Given the description of an element on the screen output the (x, y) to click on. 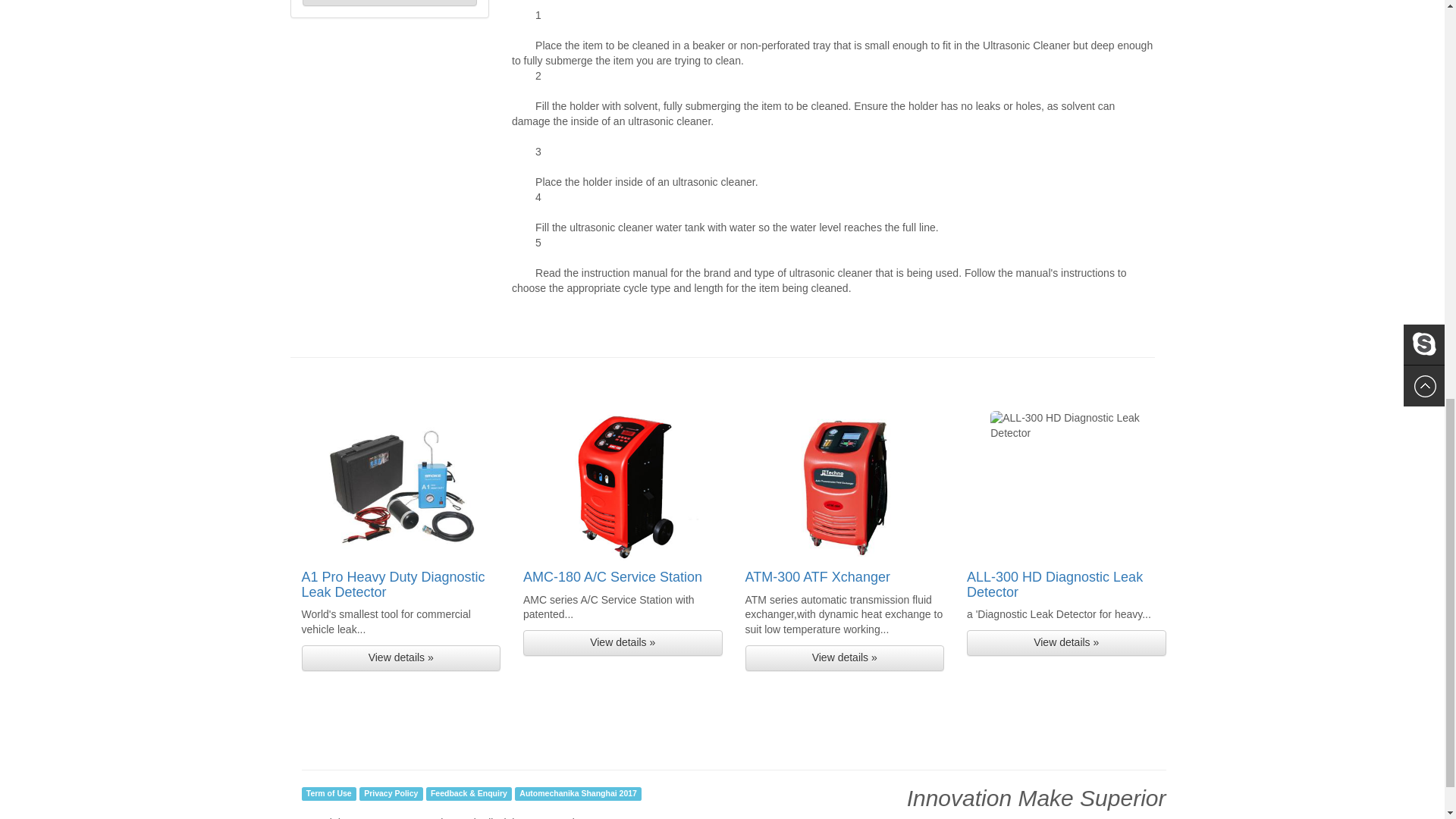
A1 Pro Heavy Duty Diagnostic Leak Detector (392, 584)
ATM-300 ATF Xchanger (816, 576)
ATM-300 ATF Xchanger (816, 576)
A1 Pro Heavy Duty Diagnostic Leak Detector (392, 584)
Privacy Policy (391, 793)
Submit Wiki Request (389, 2)
ALL-300 HD Diagnostic Leak Detector (1054, 584)
Term of Use (328, 793)
ALL-300 HD Diagnostic Leak Detector (1054, 584)
